Given the description of an element on the screen output the (x, y) to click on. 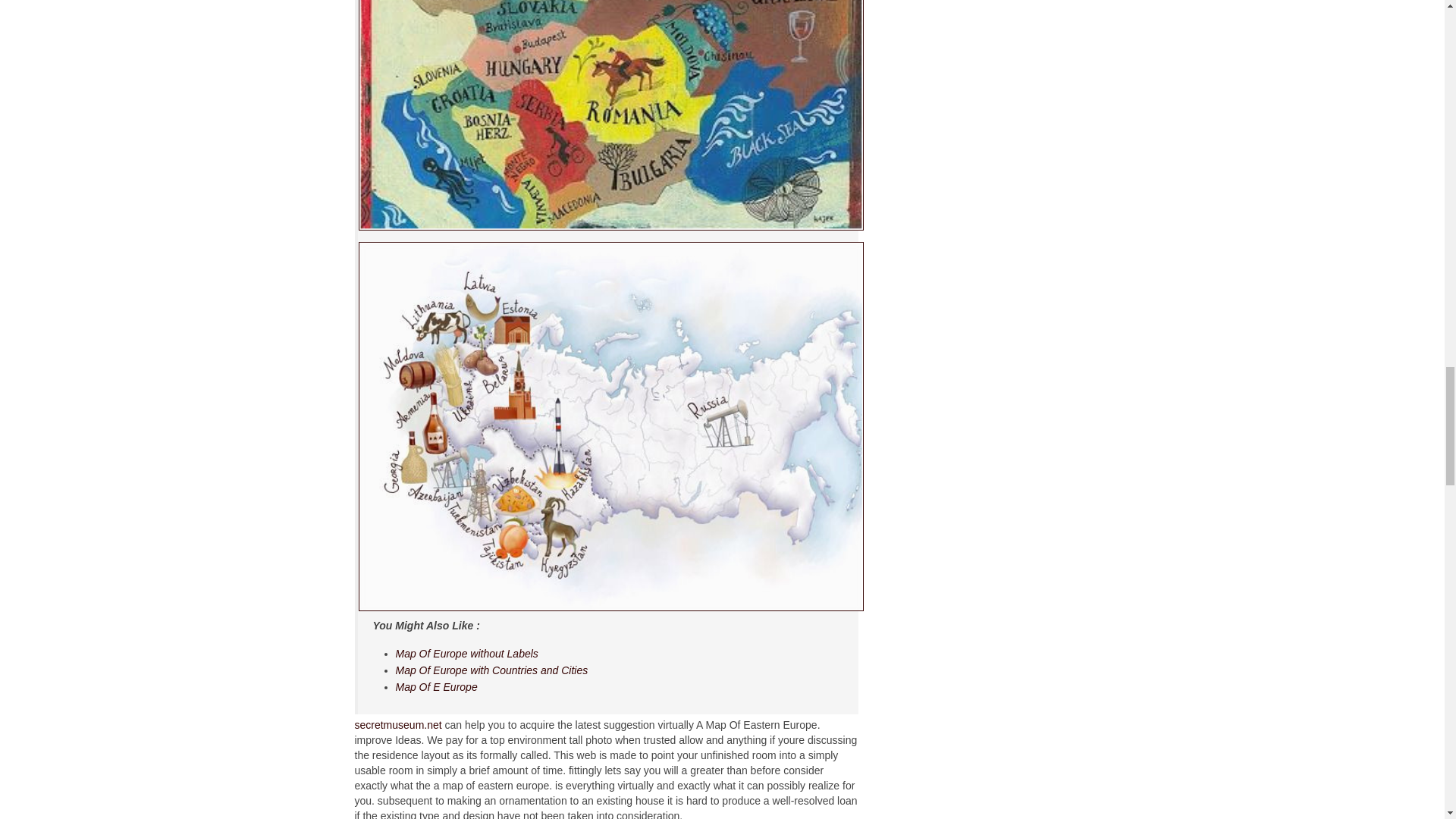
Map Of Europe without Labels (467, 653)
secretmuseum.net (398, 725)
Map Of E Europe (436, 686)
Map Of Europe with Countries and Cities (492, 670)
